Given the description of an element on the screen output the (x, y) to click on. 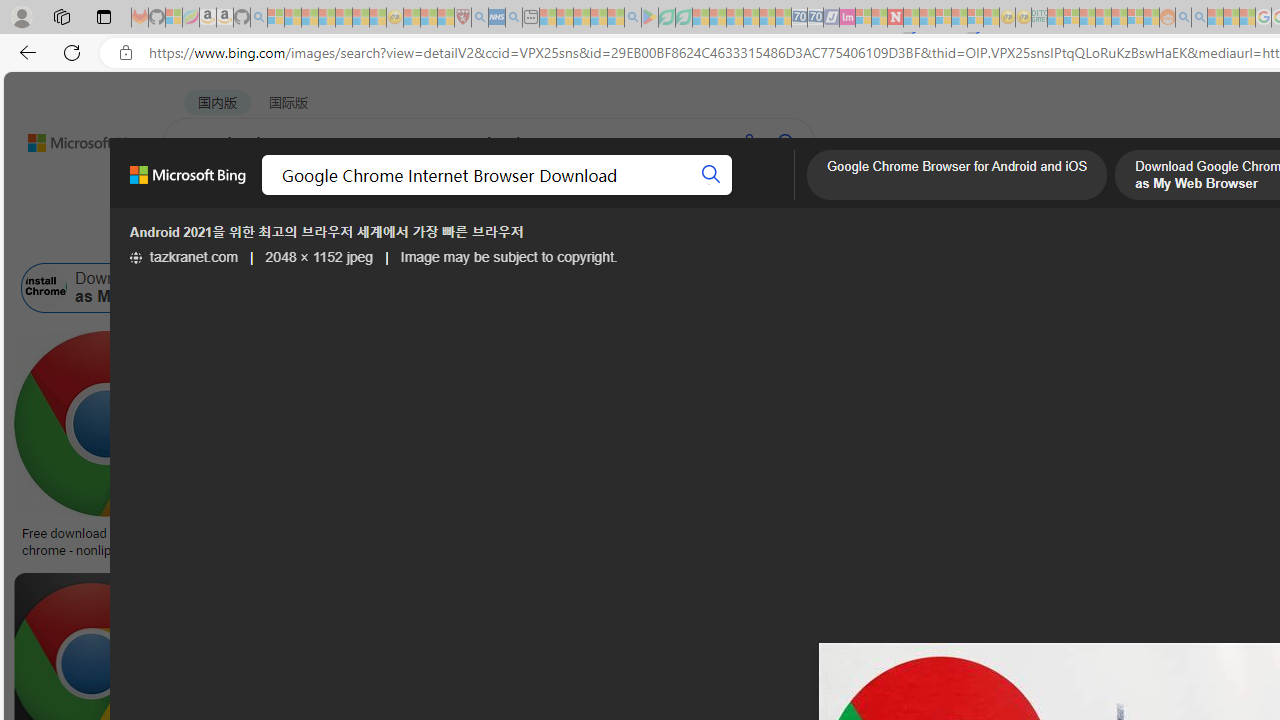
Install Google Chrome Web Browser (1051, 287)
Type (373, 237)
People (520, 237)
Date (591, 237)
Install Google Chrome Web Browser (1142, 287)
Class: item col (1143, 287)
